Given the description of an element on the screen output the (x, y) to click on. 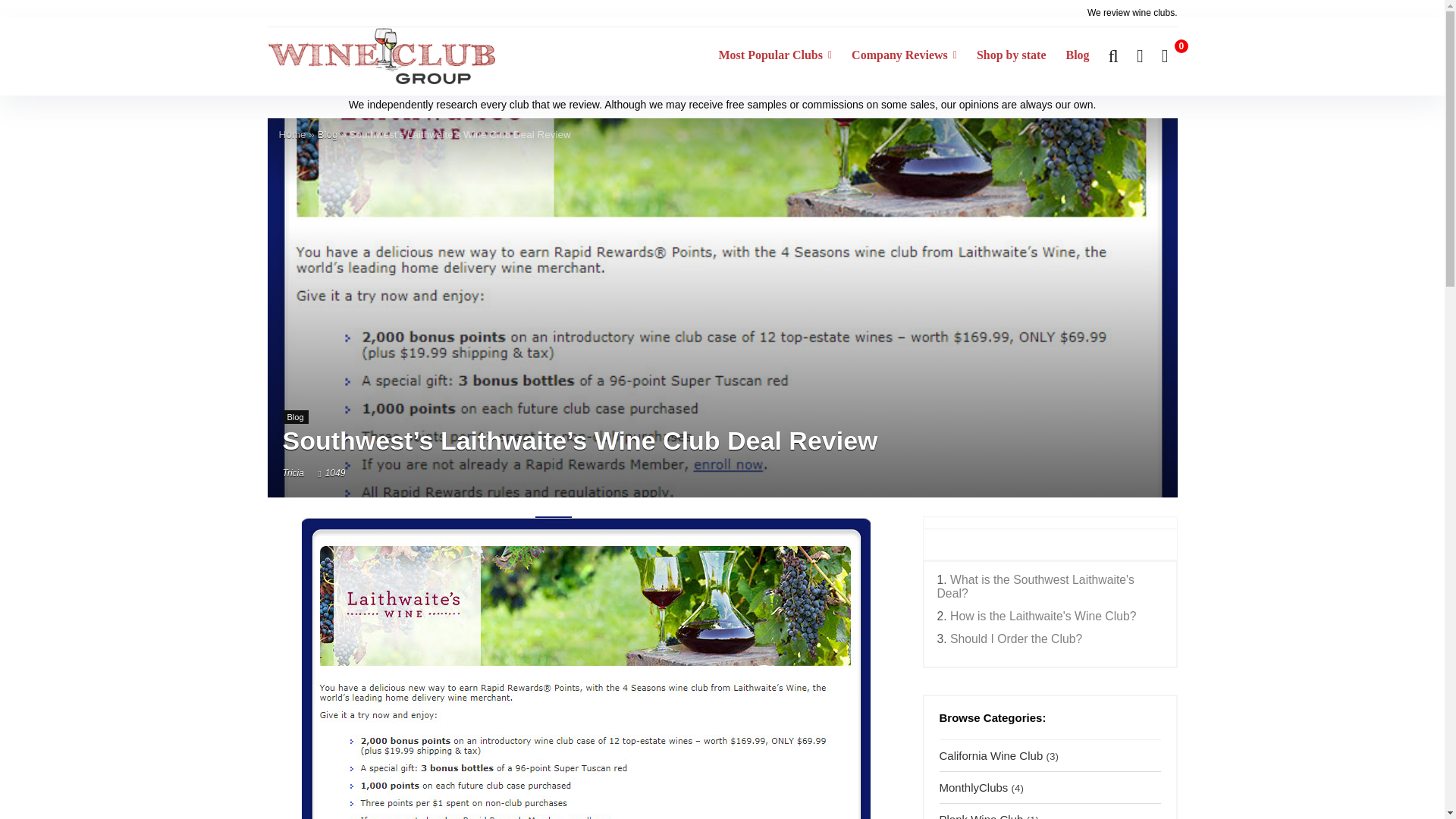
Home (292, 134)
View all posts in Blog (294, 417)
Shop by state (1011, 55)
Blog (327, 134)
Company Reviews (903, 55)
Blog (1077, 55)
Blog (294, 417)
Most Popular Clubs (774, 55)
Tricia (292, 472)
